Given the description of an element on the screen output the (x, y) to click on. 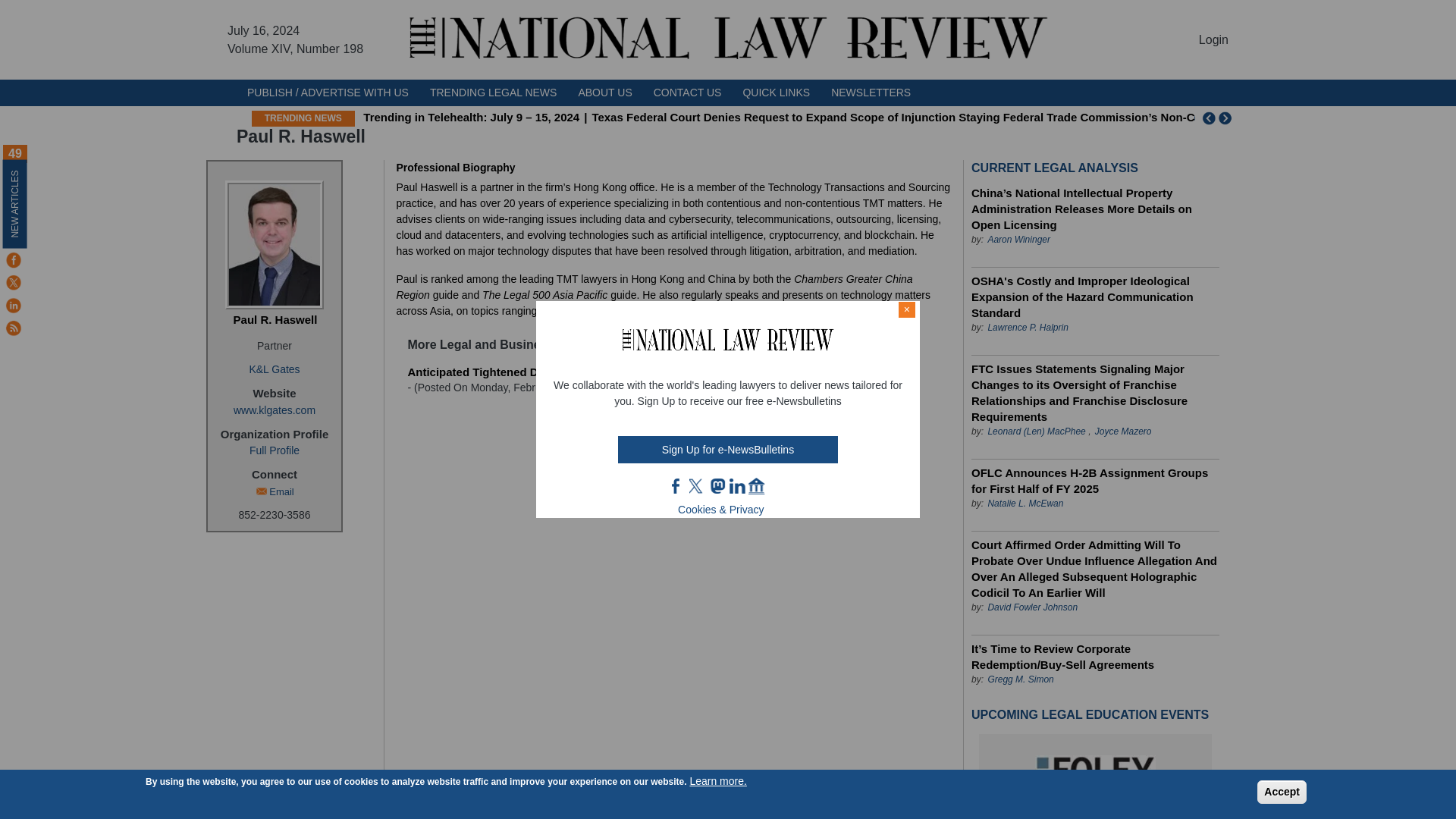
Home (727, 39)
Login (1213, 39)
